Given the description of an element on the screen output the (x, y) to click on. 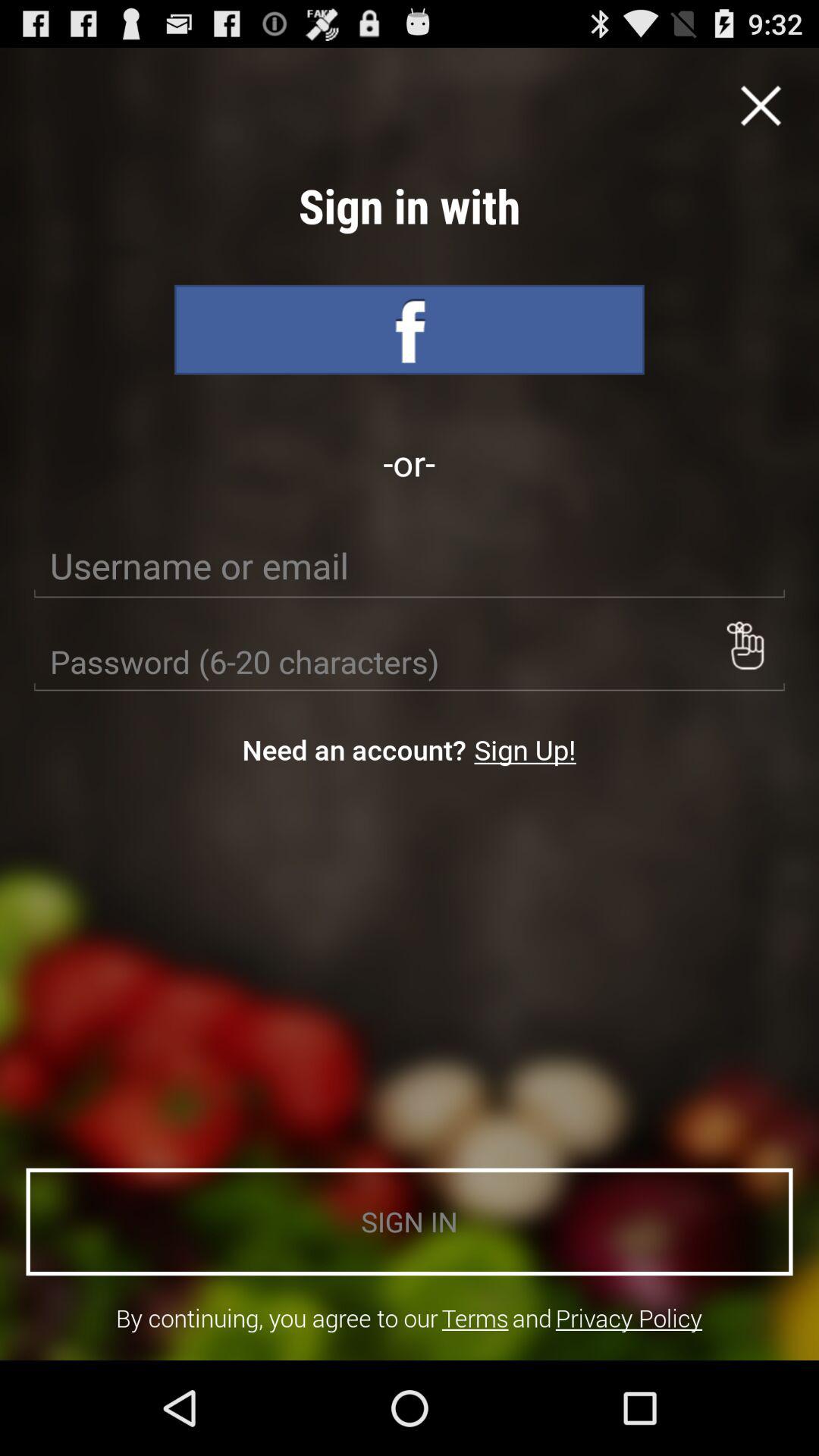
use facebook for signin (409, 329)
